Given the description of an element on the screen output the (x, y) to click on. 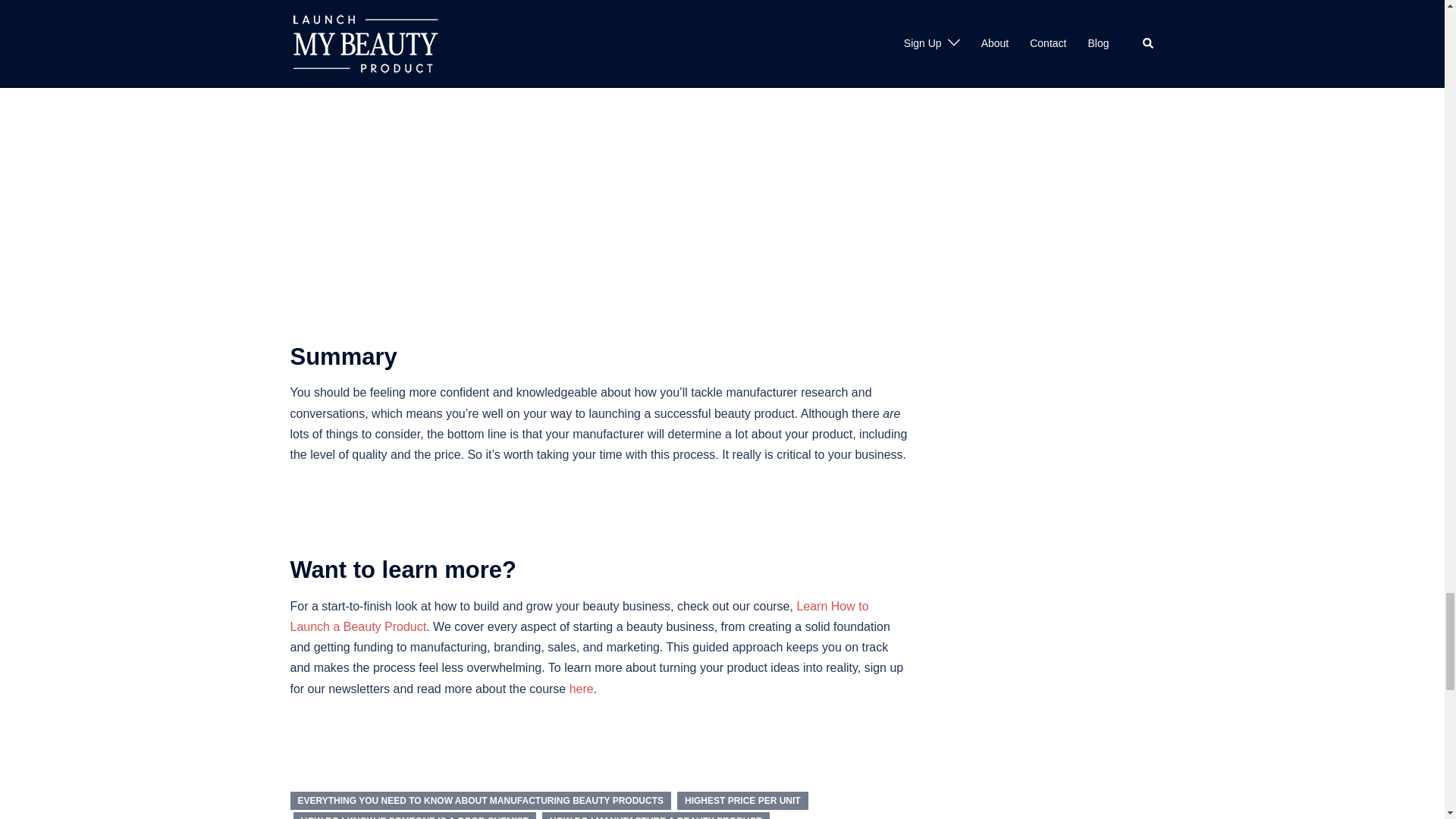
here (581, 688)
HIGHEST PRICE PER UNIT (742, 800)
Learn How to Launch a Beauty Product (578, 616)
HOW DO I MANUFACTURE A BEAUTY PRODUCT (655, 815)
HOW DO I KNOW IF SOMEONE IS A GOOD CHEMIST (413, 815)
